Given the description of an element on the screen output the (x, y) to click on. 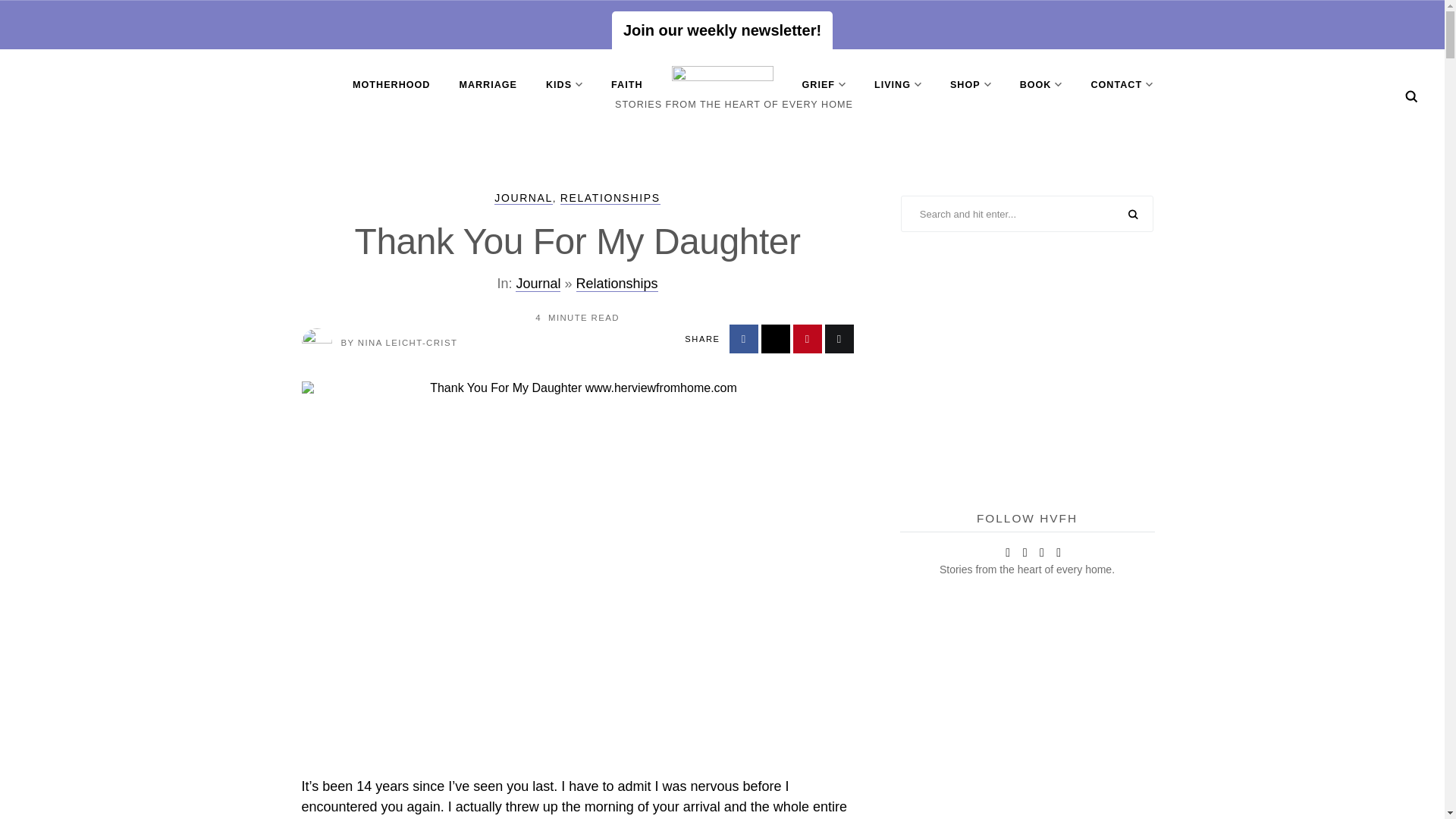
Share on Facebook (743, 338)
Share on Pinterest (807, 338)
Search (1411, 96)
Share on X (775, 338)
SEARCH (1133, 214)
Share by Email (839, 338)
